Given the description of an element on the screen output the (x, y) to click on. 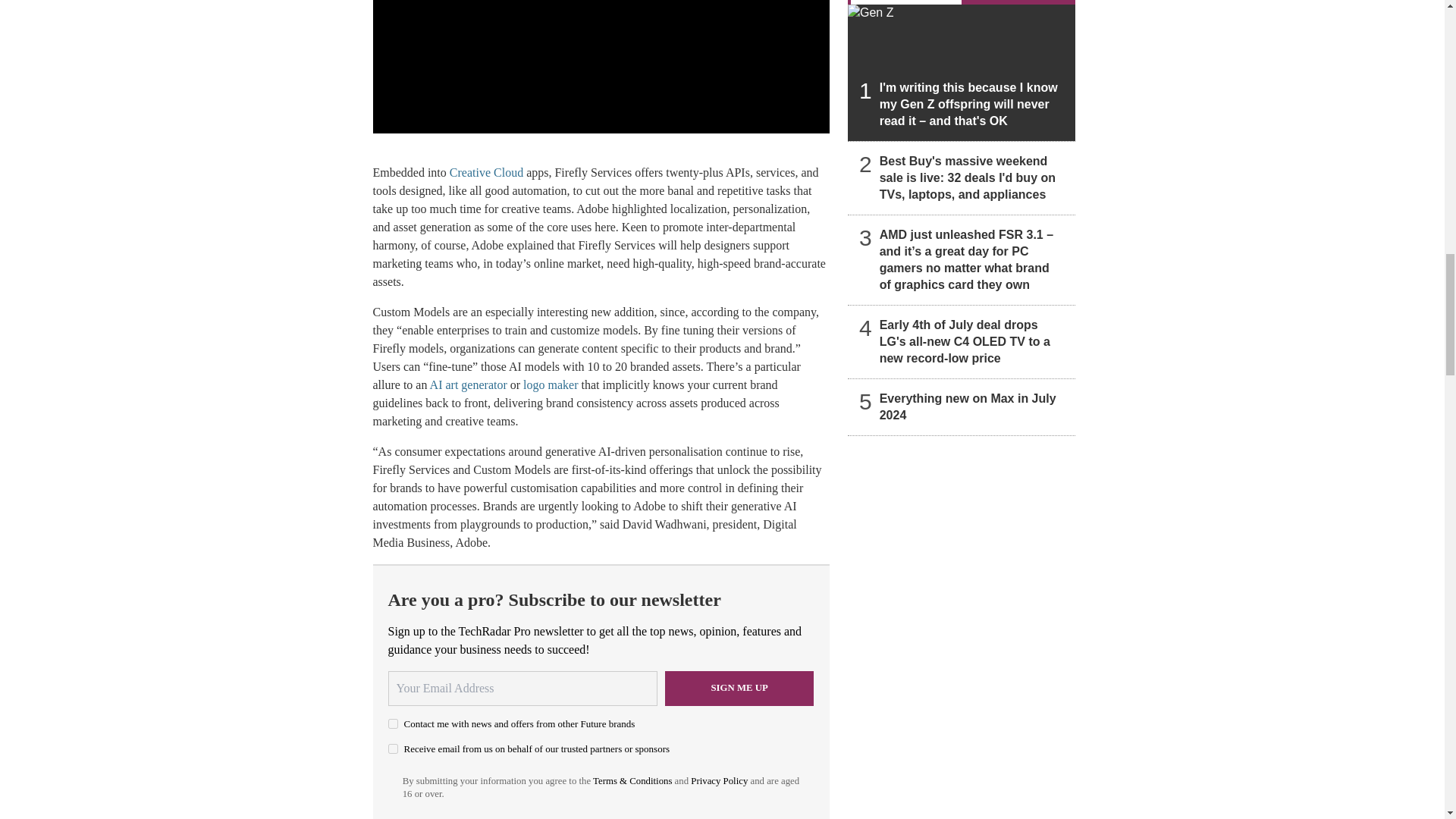
on (392, 748)
Sign me up (739, 687)
on (392, 723)
